Given the description of an element on the screen output the (x, y) to click on. 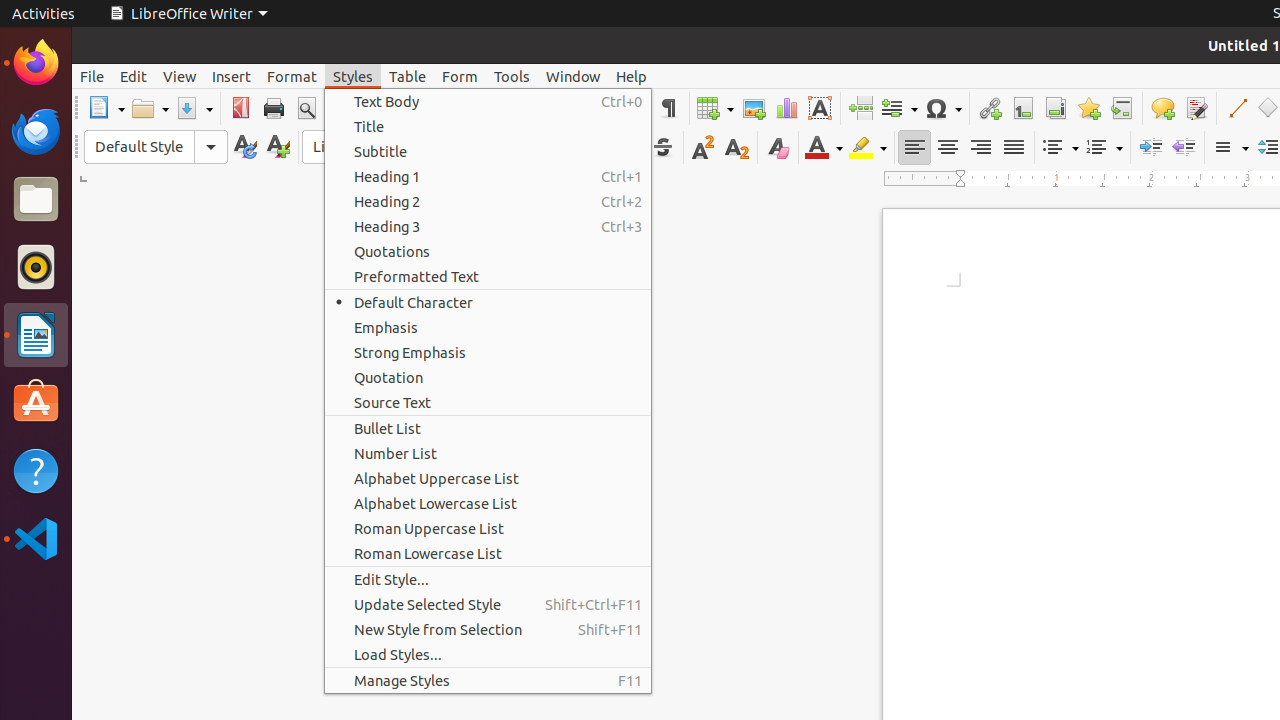
Roman Lowercase List Element type: radio-menu-item (488, 553)
Quotation Element type: radio-menu-item (488, 377)
Alphabet Lowercase List Element type: radio-menu-item (488, 503)
Manage Styles Element type: menu-item (488, 680)
LibreOffice Writer Element type: push-button (36, 334)
